Given the description of an element on the screen output the (x, y) to click on. 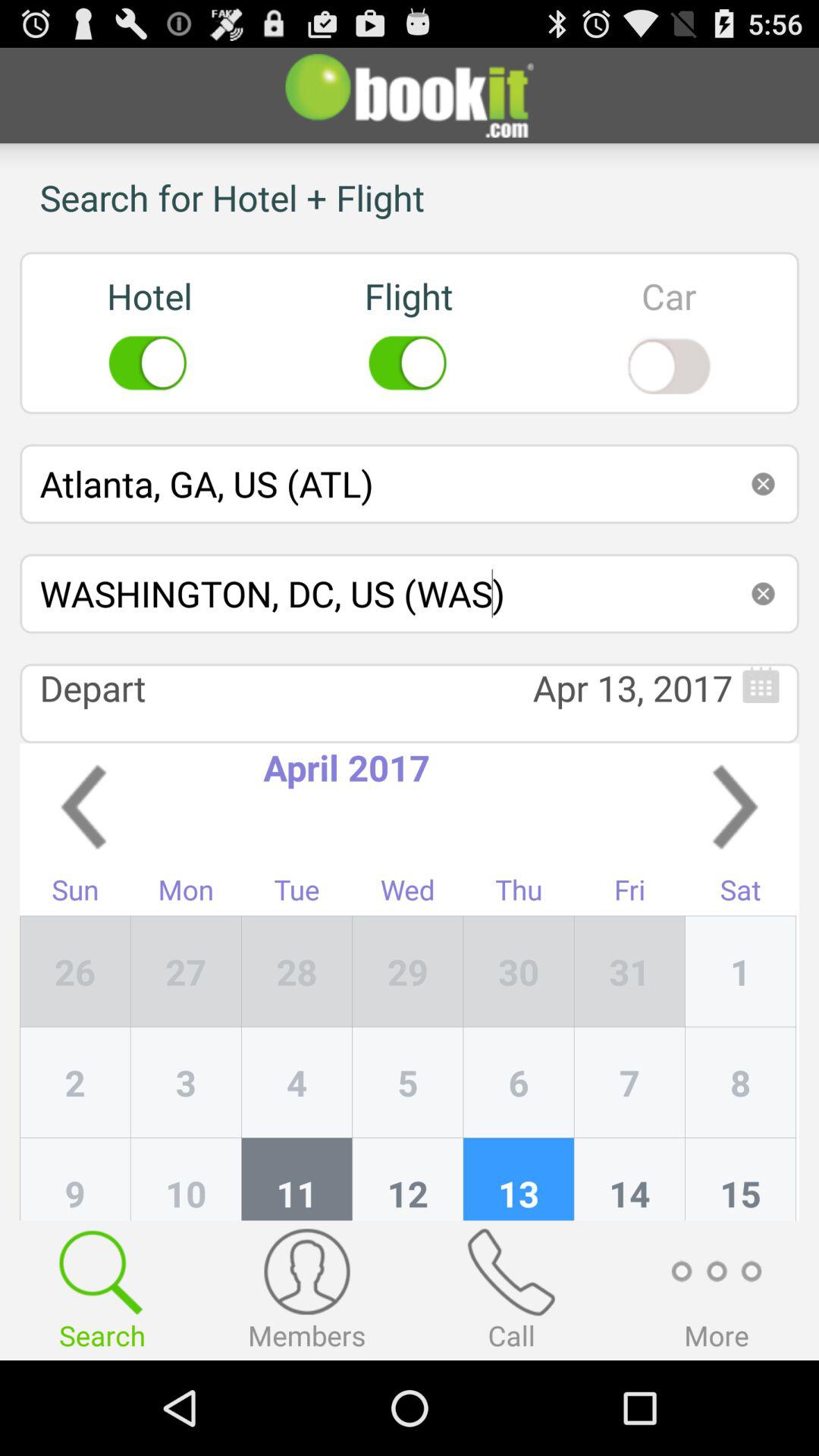
select item above the sun (83, 806)
